Given the description of an element on the screen output the (x, y) to click on. 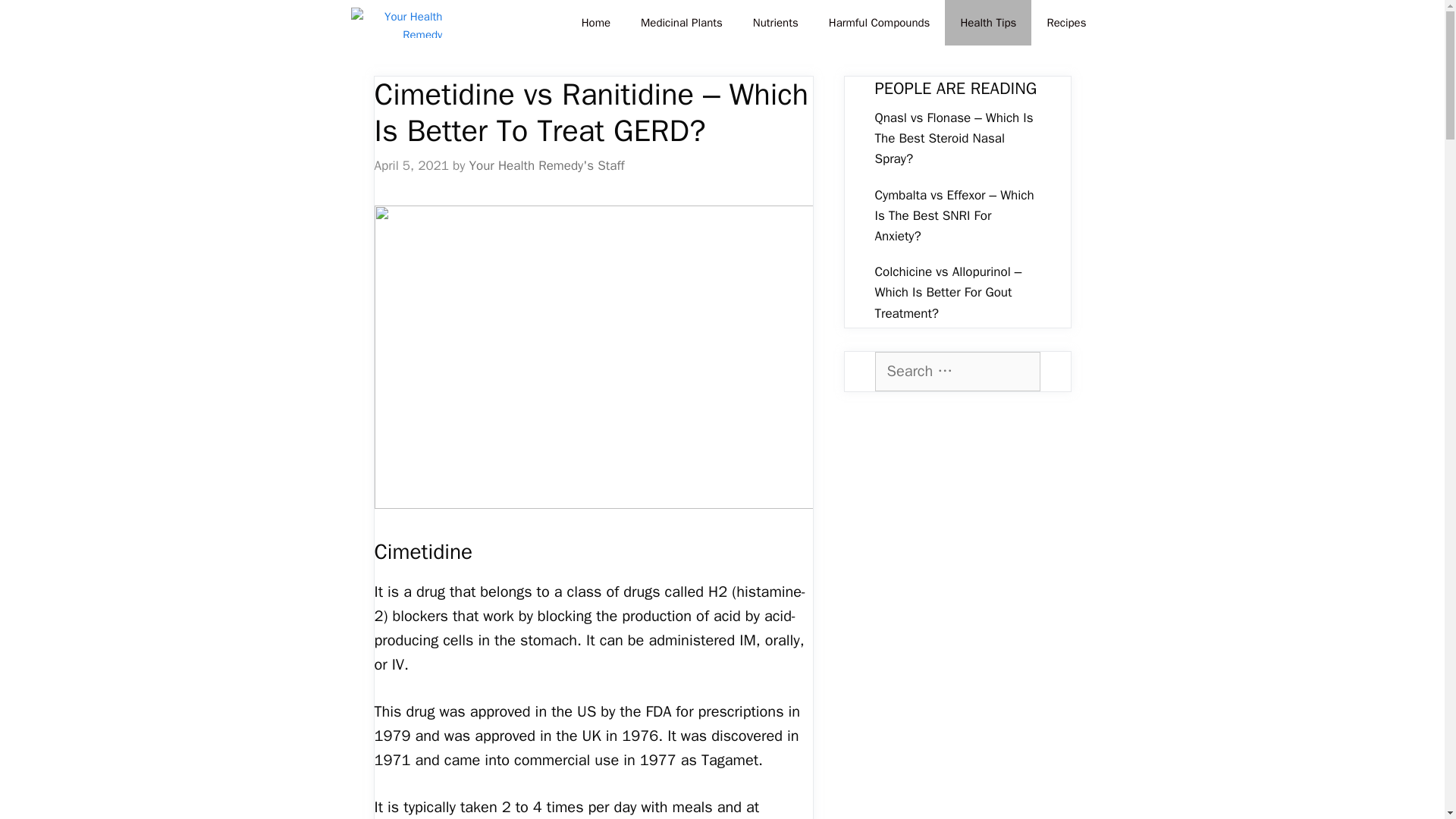
Your Health Remedy's Staff (546, 165)
Medicinal Plants (682, 22)
Search for: (958, 371)
Search (33, 17)
Home (596, 22)
Nutrients (775, 22)
Harmful Compounds (878, 22)
Your Health Remedy (399, 22)
Recipes (1065, 22)
Your Health Remedy (396, 22)
